Given the description of an element on the screen output the (x, y) to click on. 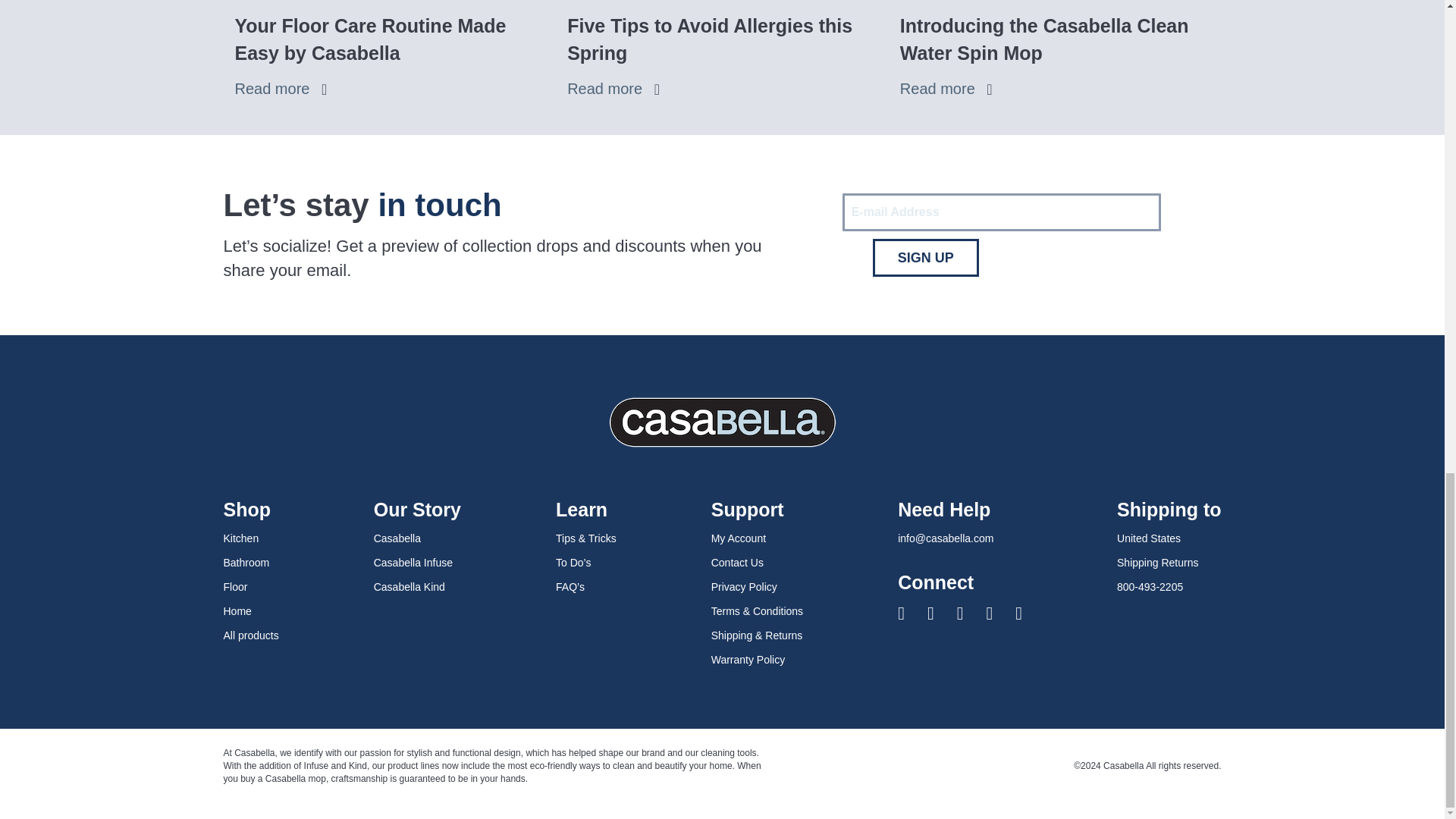
Five Tips to Avoid Allergies this Spring (722, 88)
Your Floor Care Routine Made Easy by Casabella (389, 88)
